Given the description of an element on the screen output the (x, y) to click on. 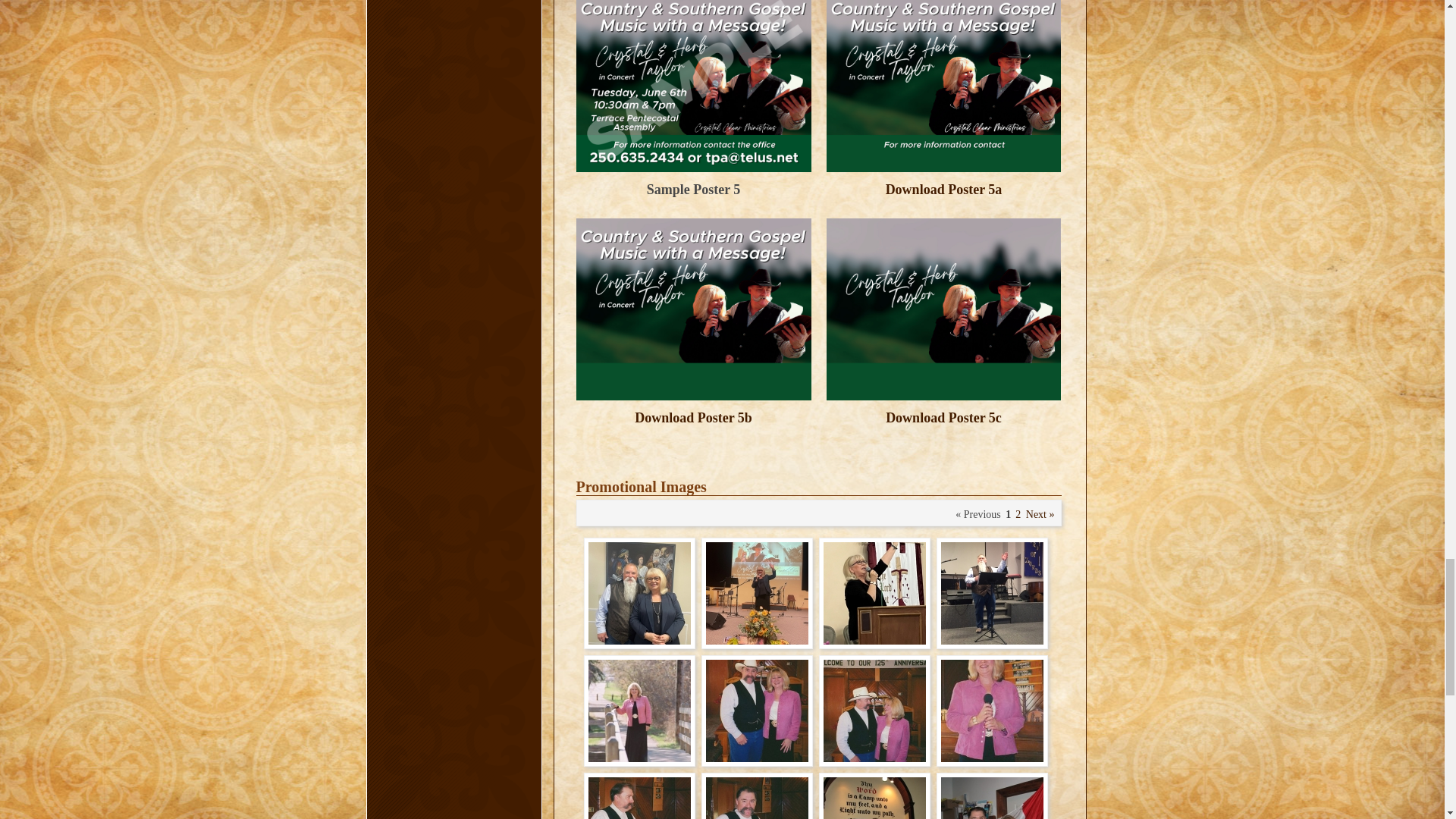
poster5a.pdf (944, 197)
poster5c.pdf (943, 426)
poster5b.pdf (693, 426)
